Given the description of an element on the screen output the (x, y) to click on. 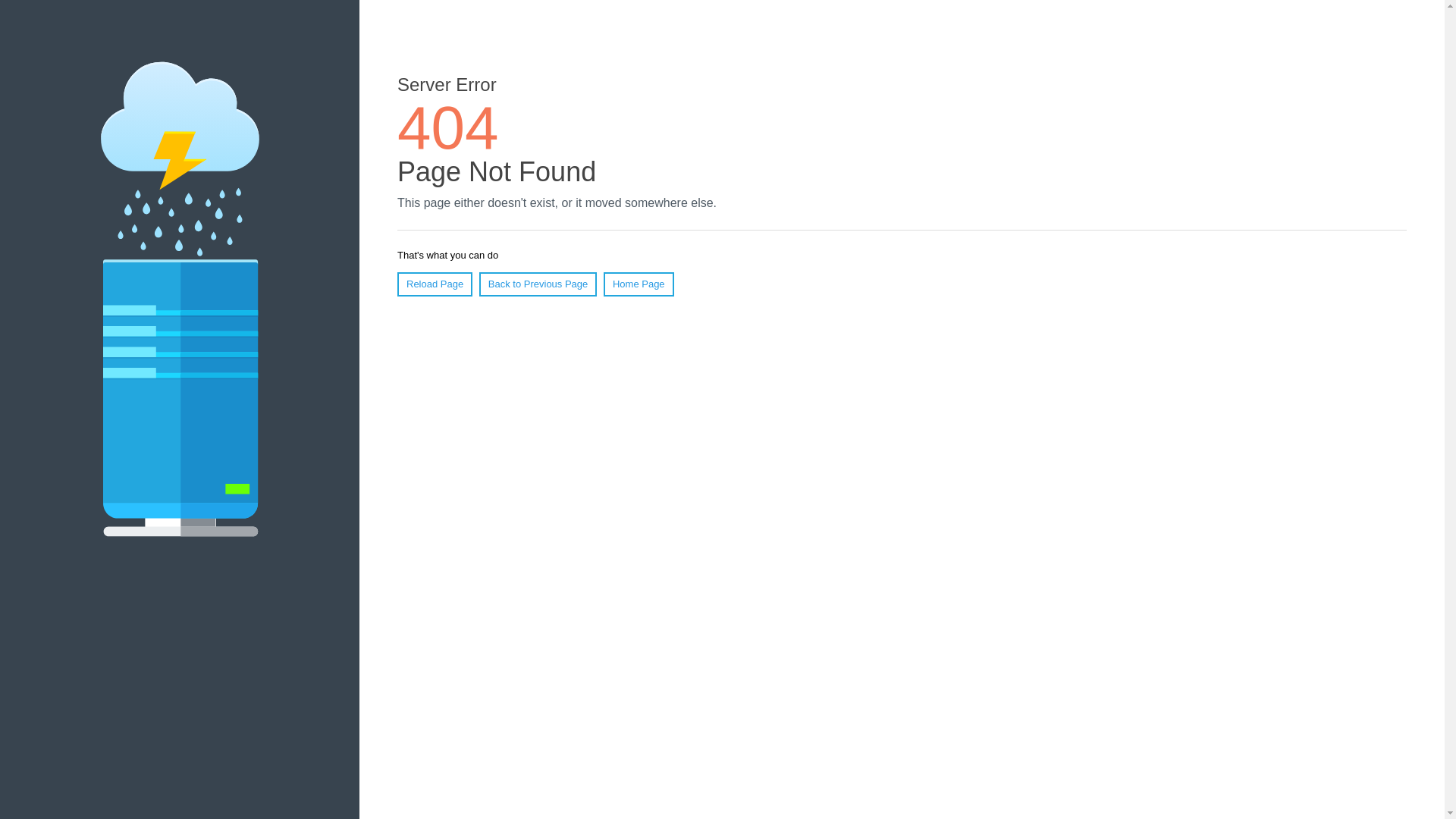
Home Page (639, 283)
Back to Previous Page (537, 283)
Reload Page (434, 283)
